Given the description of an element on the screen output the (x, y) to click on. 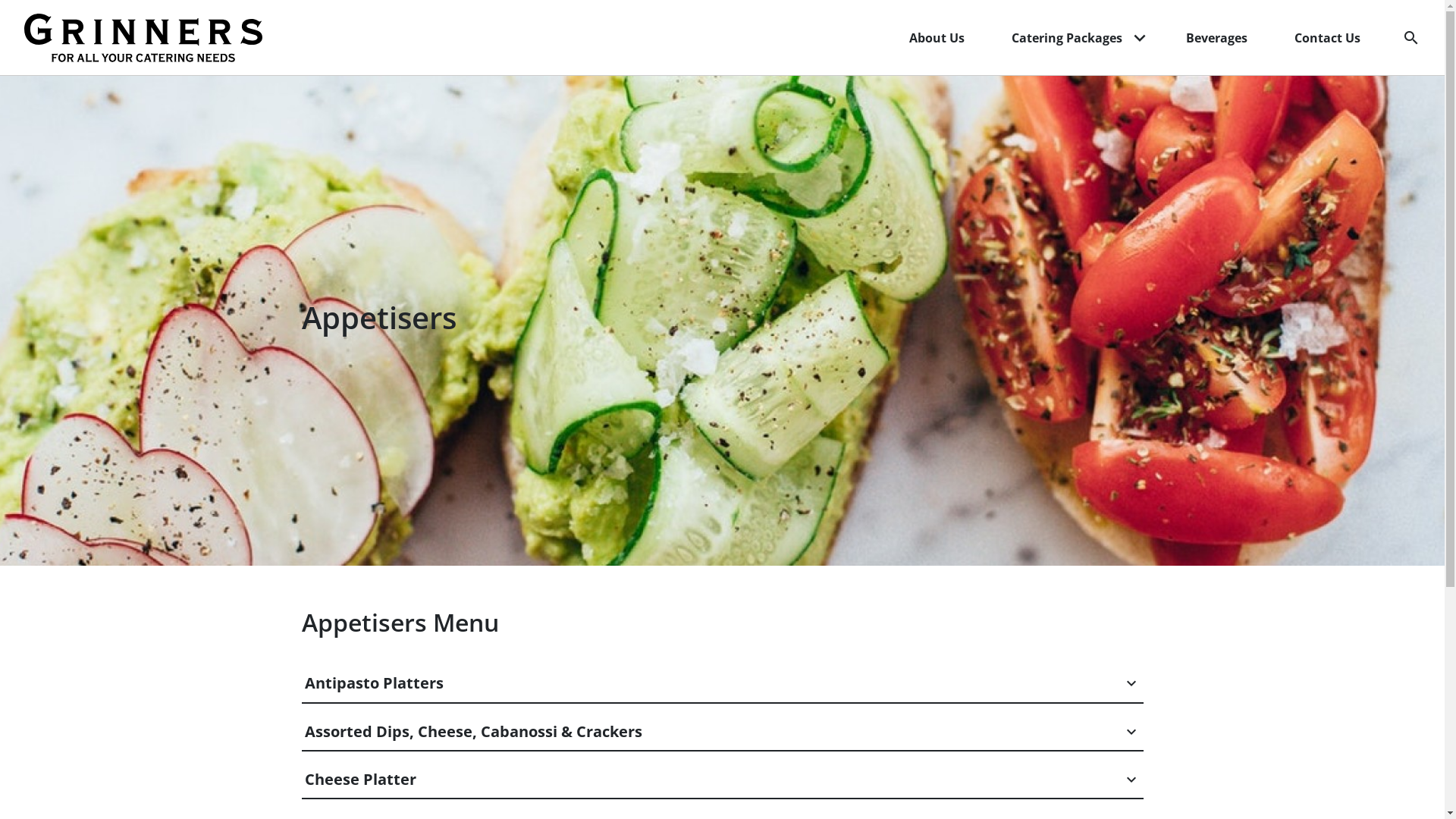
Grinners Catering logo Element type: hover (152, 37)
Catering Packages Element type: text (1063, 37)
search Element type: text (1404, 37)
expand_more Element type: text (1139, 36)
Cheese Platter
keyboard_arrow_down Element type: text (722, 779)
About Us Element type: text (936, 37)
Contact Us Element type: text (1327, 37)
Antipasto Platters
keyboard_arrow_down Element type: text (722, 683)
Beverages Element type: text (1216, 37)
